Given the description of an element on the screen output the (x, y) to click on. 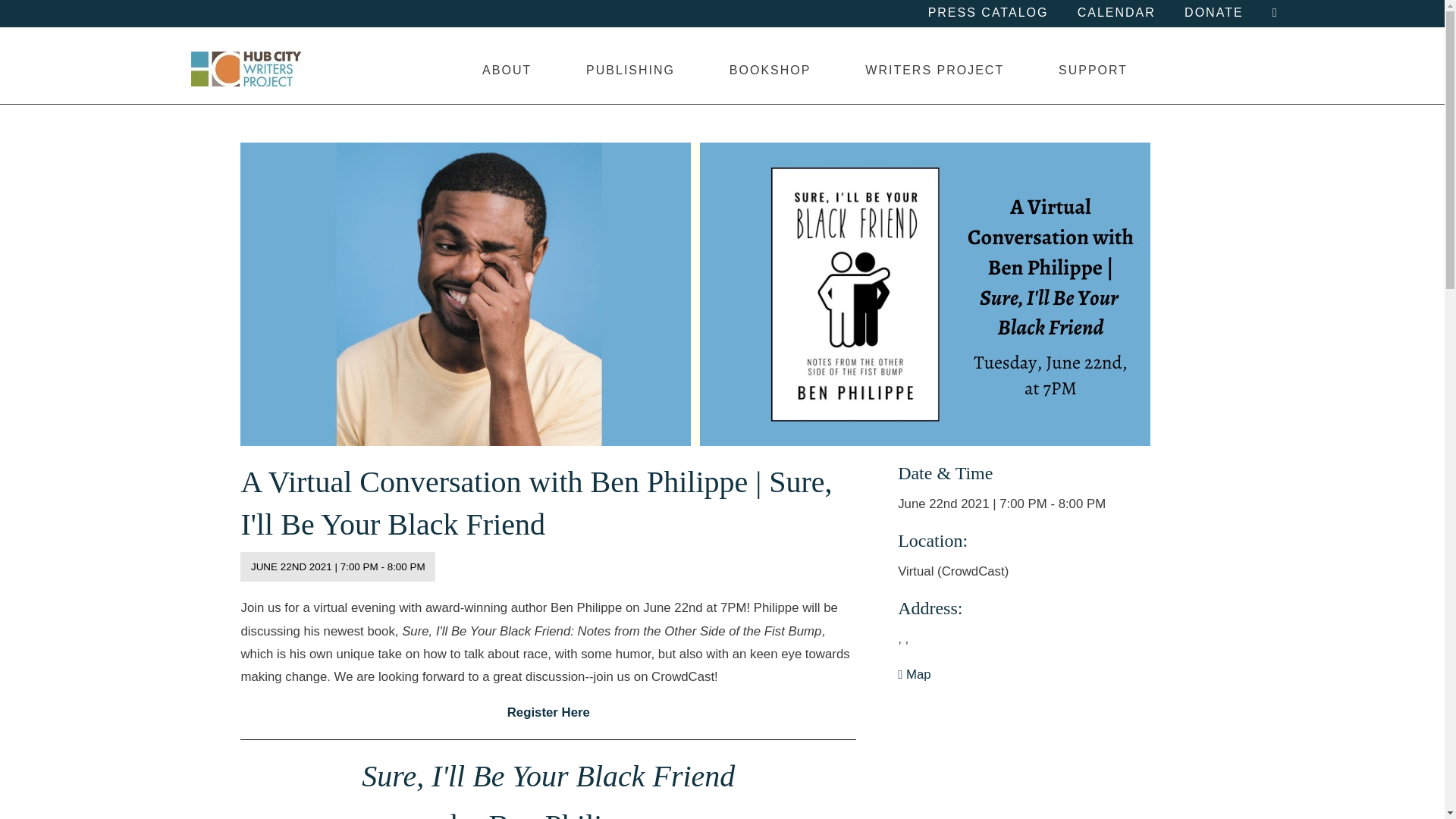
WRITERS PROJECT (934, 70)
Hub City Writers Project (247, 68)
SUPPORT (1092, 70)
ABOUT (506, 70)
VIEW CART (1274, 13)
Map (914, 674)
Register Here (547, 712)
DONATE (1213, 13)
BOOKSHOP (769, 70)
PRESS CATALOG (988, 13)
CALENDAR (1116, 13)
PUBLISHING (630, 70)
